Given the description of an element on the screen output the (x, y) to click on. 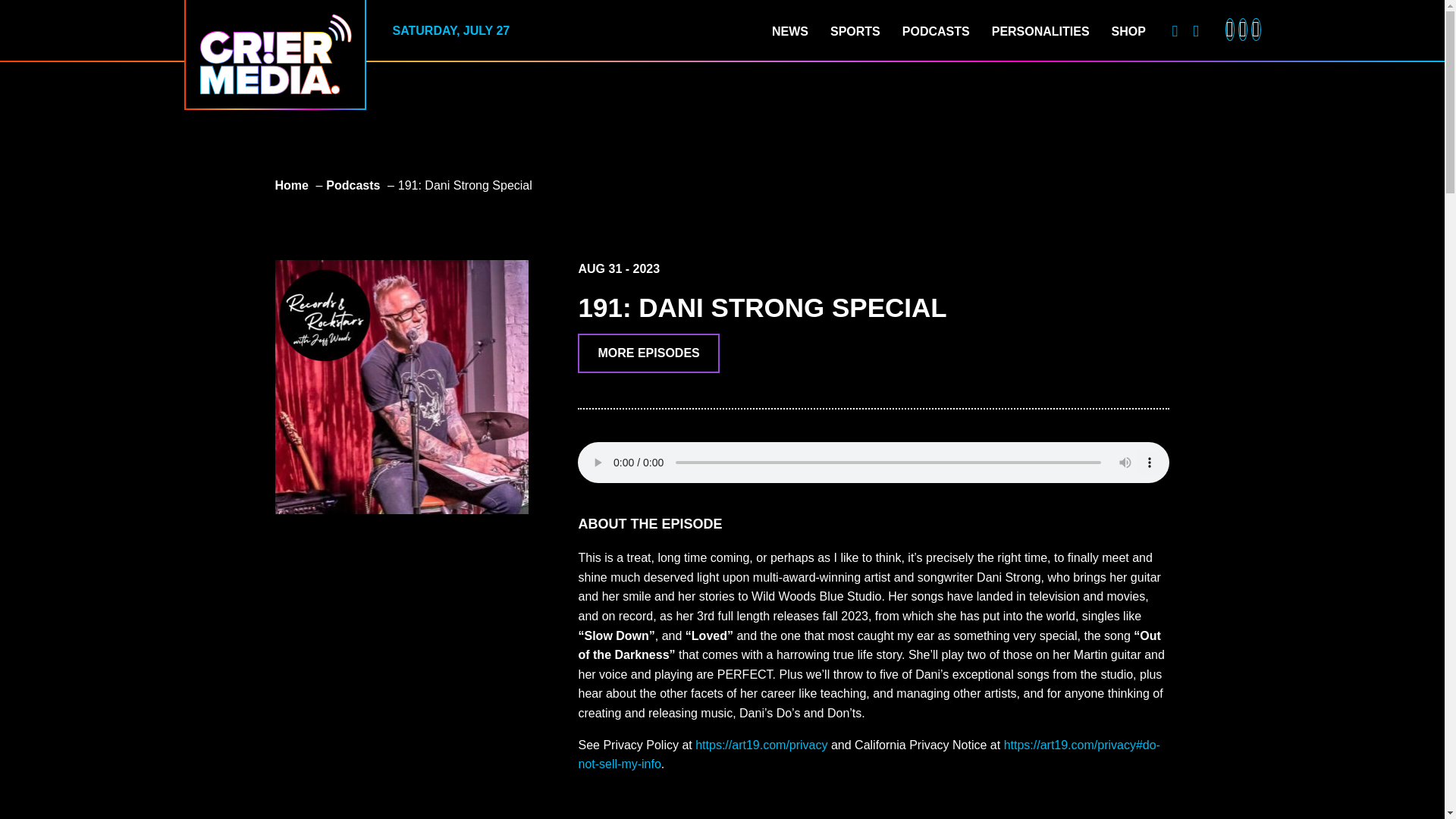
MORE EPISODES (648, 353)
NEWS (789, 31)
PERSONALITIES (1040, 31)
SHOP (1128, 31)
PODCASTS (935, 31)
SPORTS (854, 31)
